Given the description of an element on the screen output the (x, y) to click on. 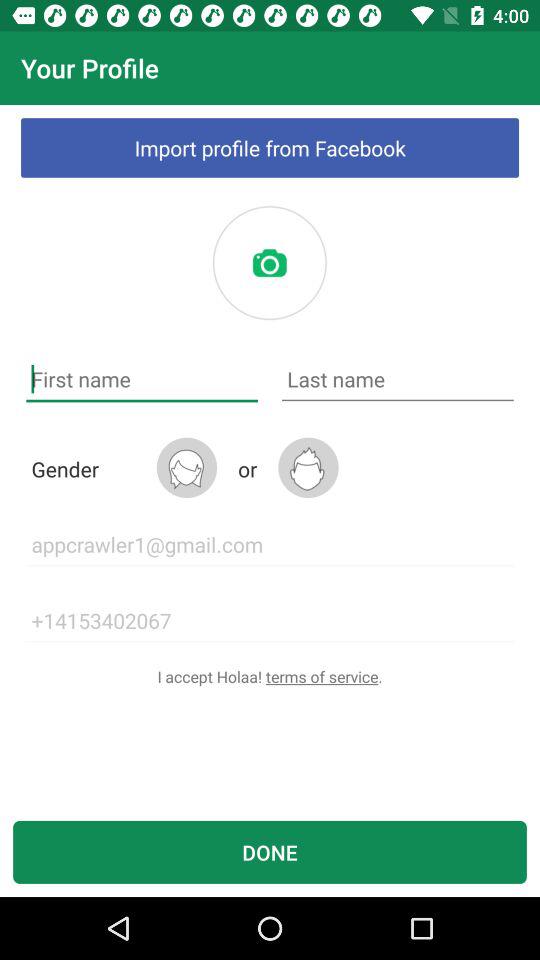
turn off the icon next to or icon (308, 467)
